Given the description of an element on the screen output the (x, y) to click on. 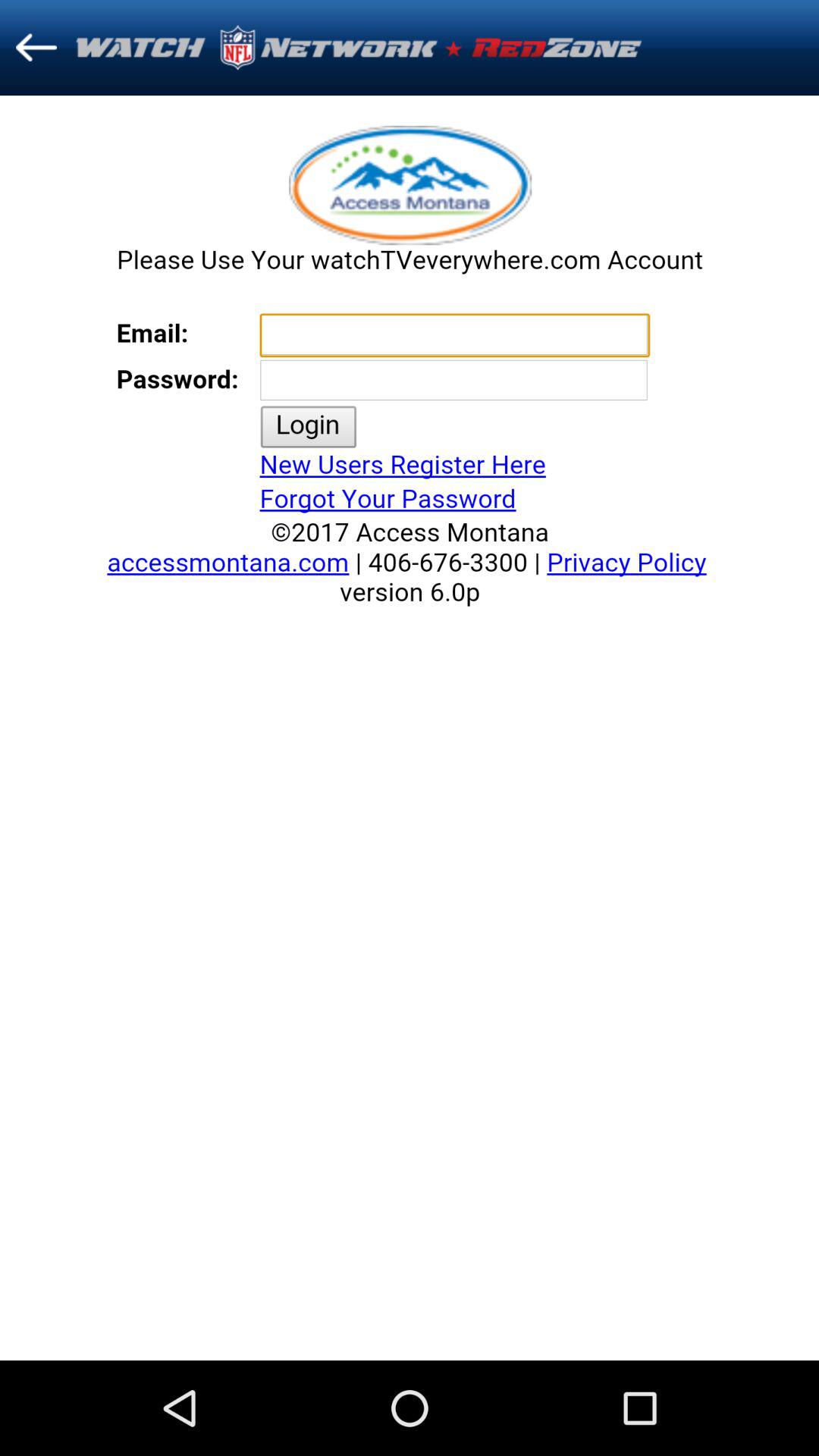
sign in (409, 727)
